Given the description of an element on the screen output the (x, y) to click on. 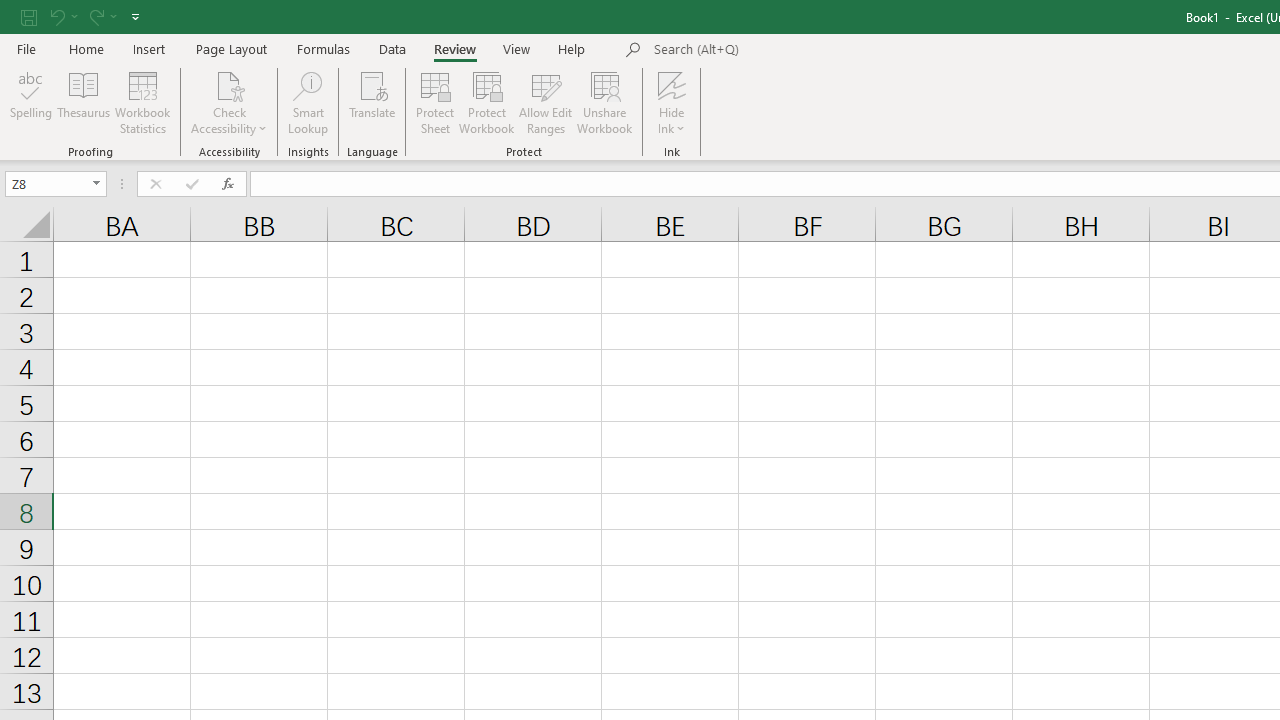
Allow Edit Ranges (545, 102)
